Given the description of an element on the screen output the (x, y) to click on. 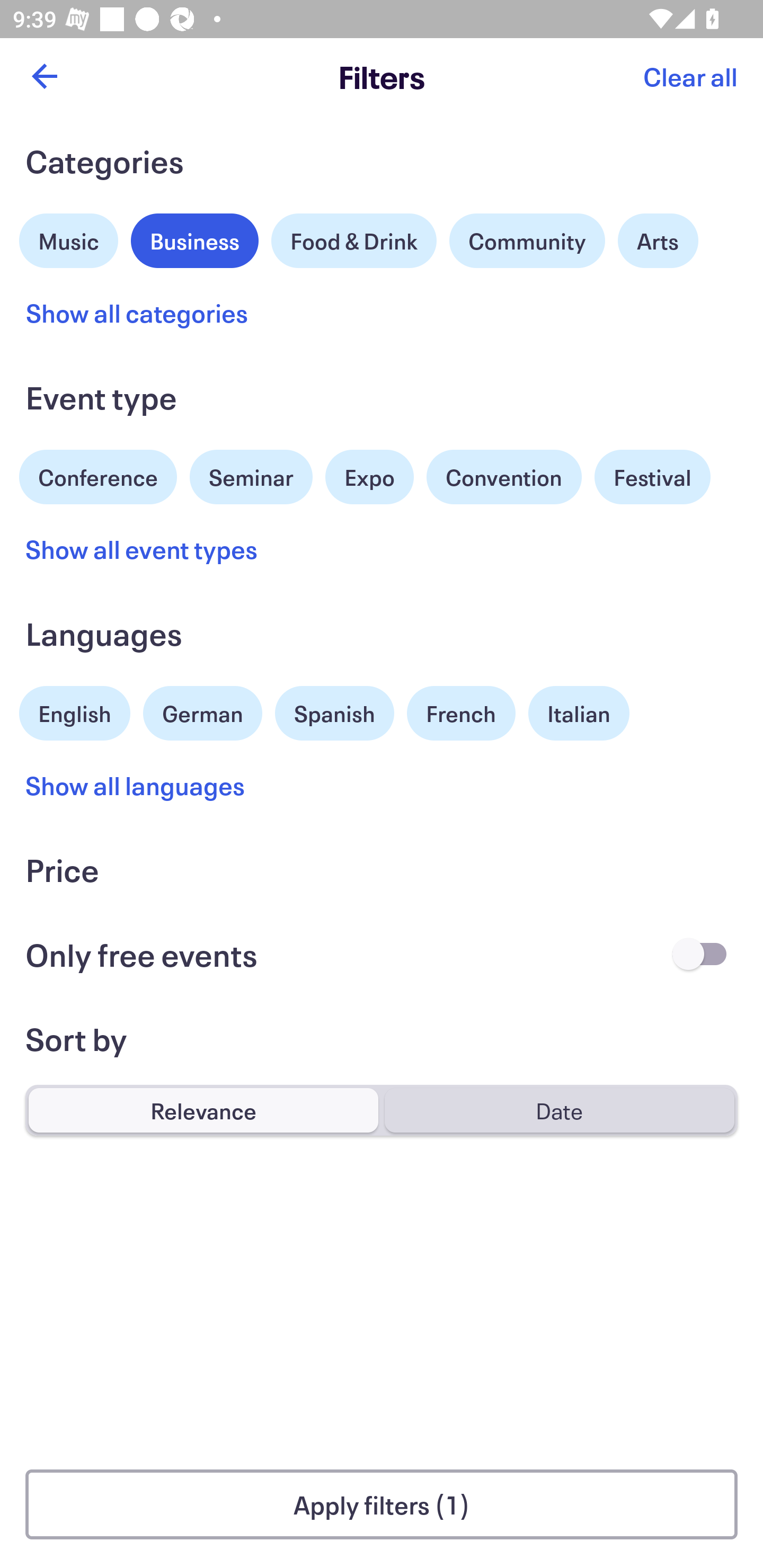
Back button (44, 75)
Clear all (690, 75)
Music (68, 238)
Business (194, 238)
Food & Drink (353, 240)
Community (527, 240)
Arts (658, 240)
Show all categories (136, 312)
Conference (98, 475)
Seminar (250, 477)
Expo (369, 477)
Convention (503, 477)
Festival (652, 477)
Show all event types (141, 548)
English (74, 710)
German (202, 710)
Spanish (334, 713)
French (460, 713)
Italian (578, 713)
Show all languages (135, 784)
Relevance (203, 1109)
Date (559, 1109)
Apply filters (1) (381, 1504)
